Given the description of an element on the screen output the (x, y) to click on. 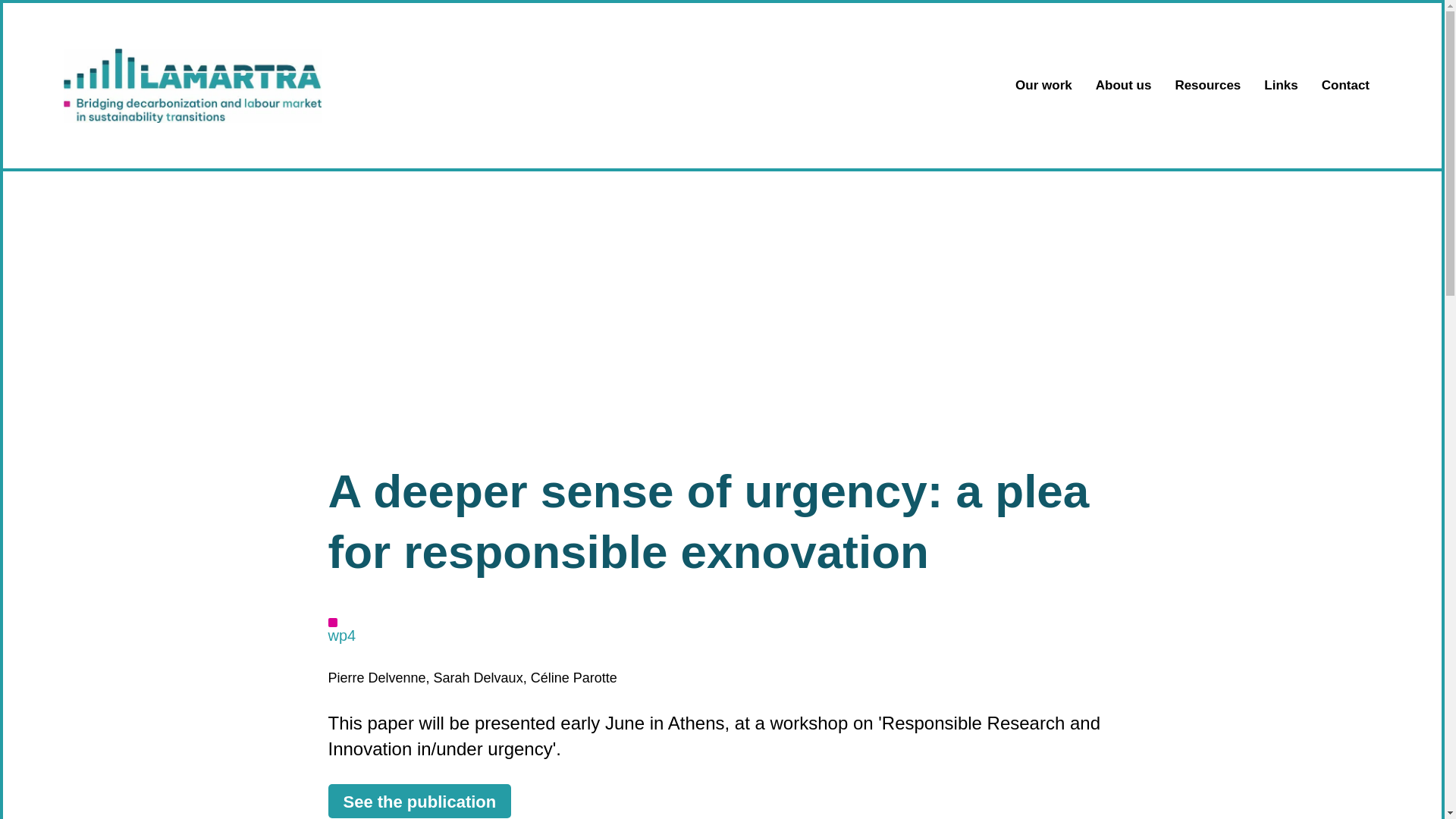
Our work (1043, 85)
Contact (1345, 85)
About us (1123, 85)
wp4 (341, 635)
Links (1280, 85)
See the publication (419, 800)
Resources (1207, 85)
